Given the description of an element on the screen output the (x, y) to click on. 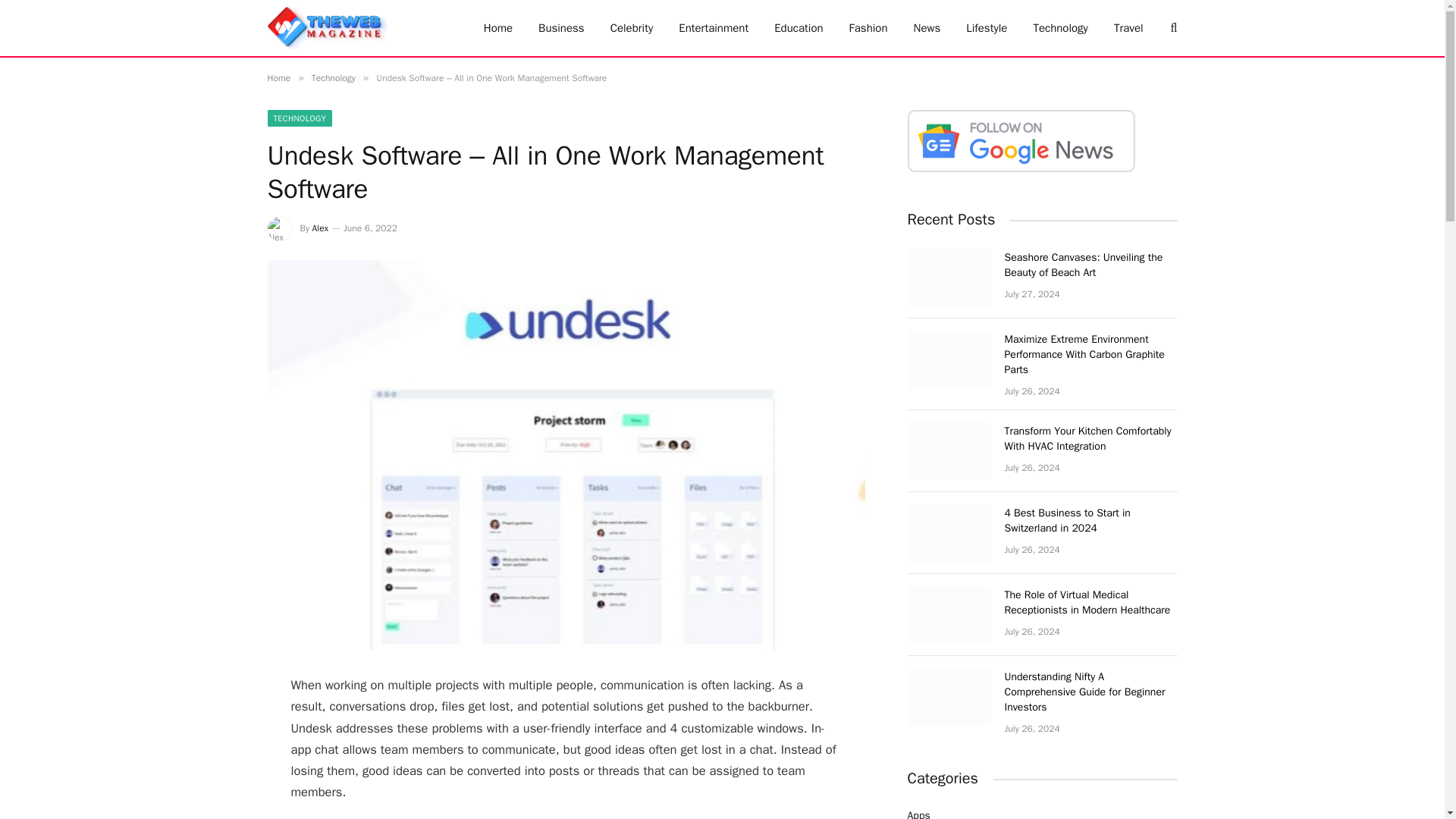
Home (277, 78)
News (927, 28)
Seashore Canvases: Unveiling the Beauty of Beach Art (1090, 265)
Posts by Alex (321, 227)
TECHNOLOGY (298, 117)
Entertainment (713, 28)
Technology (333, 78)
Education (798, 28)
Business (560, 28)
Travel (1128, 28)
Lifestyle (986, 28)
Search (1172, 27)
Home (497, 28)
Celebrity (631, 28)
The Web Magazine (325, 28)
